Given the description of an element on the screen output the (x, y) to click on. 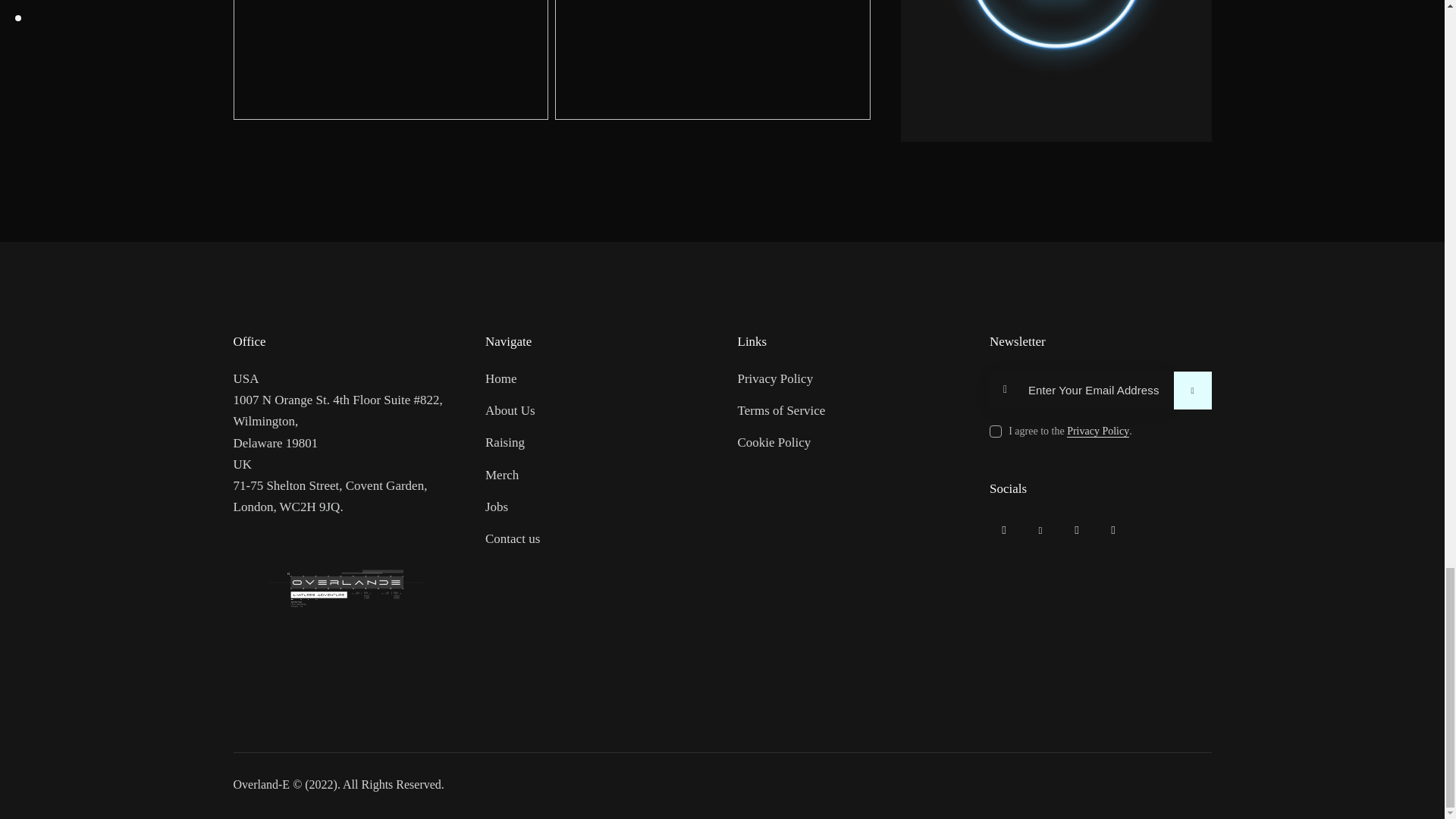
About Us (509, 410)
Contact us (512, 538)
Raising (504, 442)
Cookie Policy (773, 442)
Home (500, 378)
Jobs (496, 506)
Subscribe (1192, 390)
Merch (501, 474)
Terms of Service (780, 410)
Privacy Policy (774, 378)
